Given the description of an element on the screen output the (x, y) to click on. 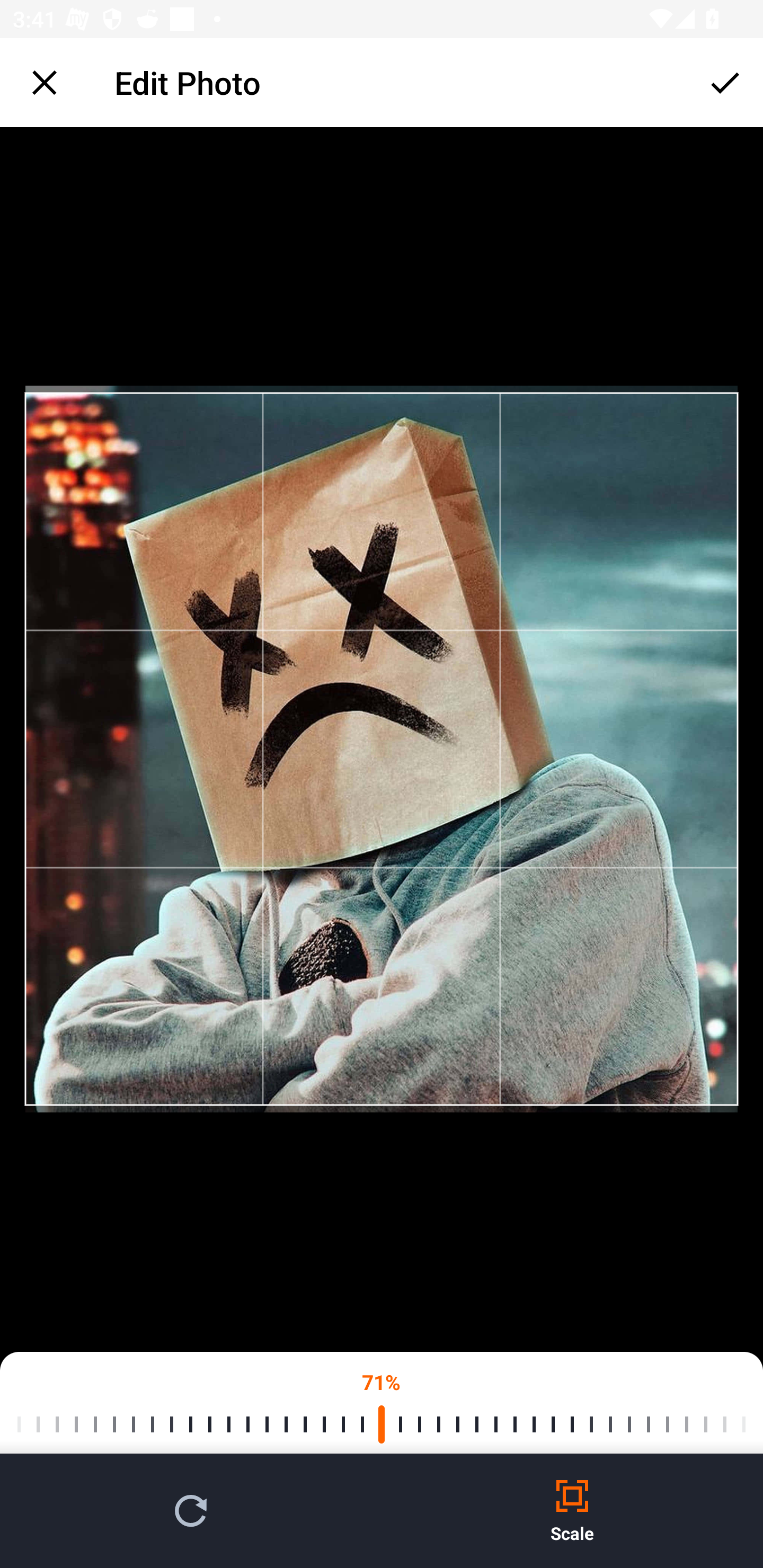
Navigate up (44, 82)
Crop (724, 81)
Scale (572, 1510)
